Given the description of an element on the screen output the (x, y) to click on. 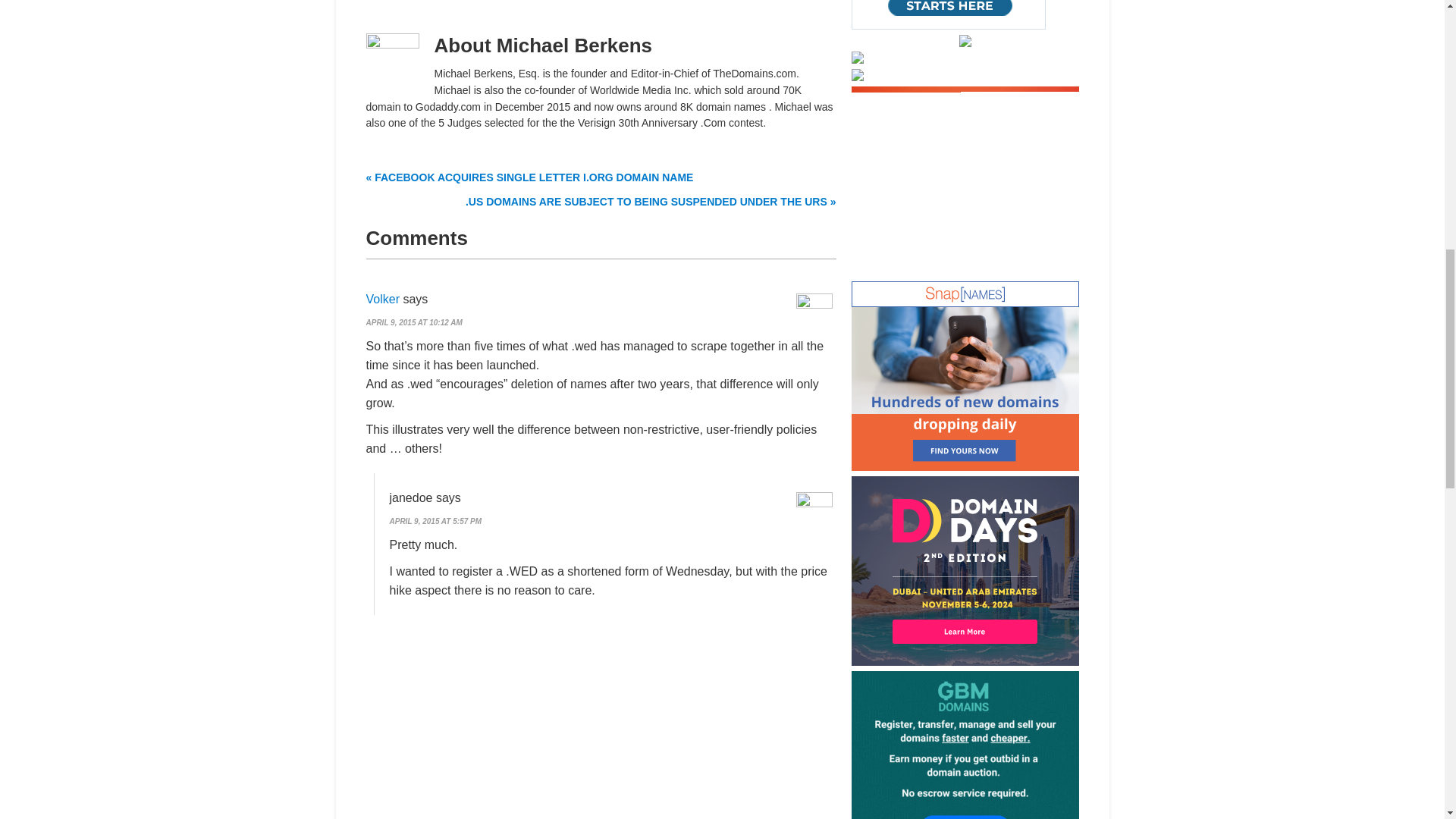
APRIL 9, 2015 AT 10:12 AM (413, 322)
APRIL 9, 2015 AT 5:57 PM (435, 520)
Volker (381, 298)
